Given the description of an element on the screen output the (x, y) to click on. 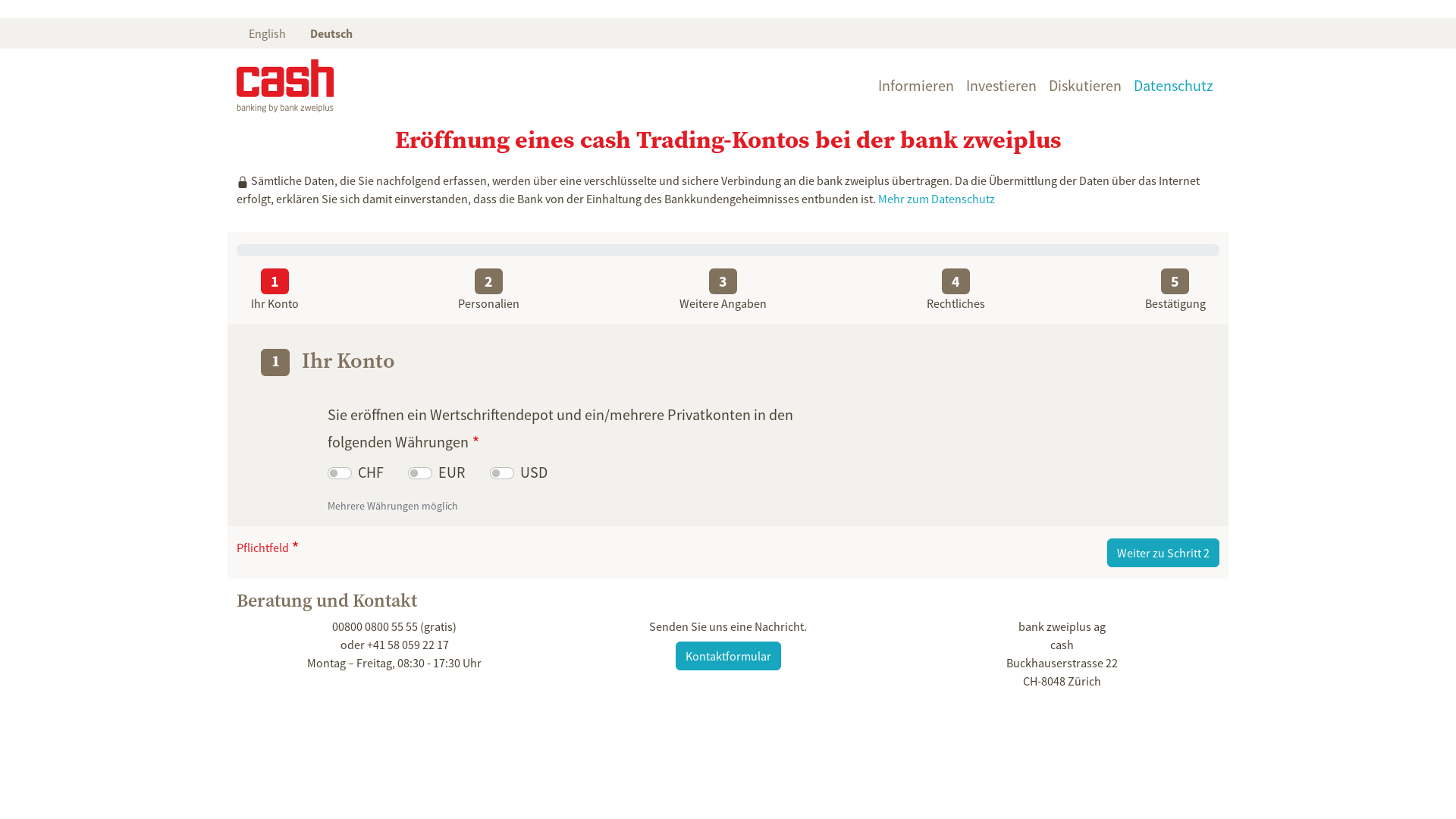
Kontaktformular Element type: text (727, 655)
Investieren Element type: text (1001, 85)
Datenschutz Element type: text (1173, 85)
Weiter zu Schritt 2 Element type: text (1163, 552)
Mehr zum Datenschutz Element type: text (936, 198)
Deutsch Element type: text (331, 32)
English Element type: text (266, 32)
cash.ch Element type: hover (284, 85)
Diskutieren Element type: text (1084, 85)
Informieren Element type: text (916, 85)
